Given the description of an element on the screen output the (x, y) to click on. 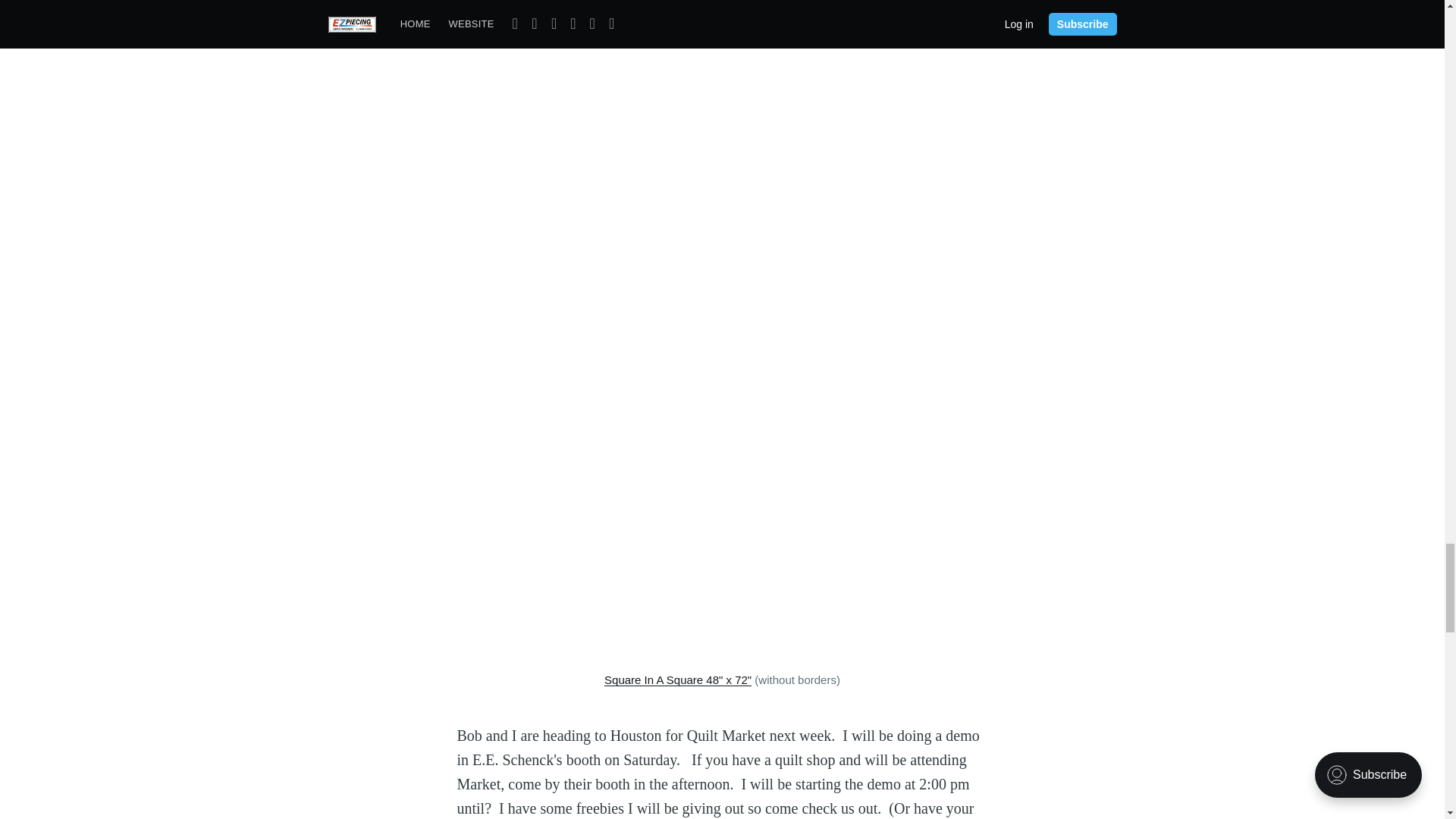
Square In A Square 48" x 72" (677, 679)
